Given the description of an element on the screen output the (x, y) to click on. 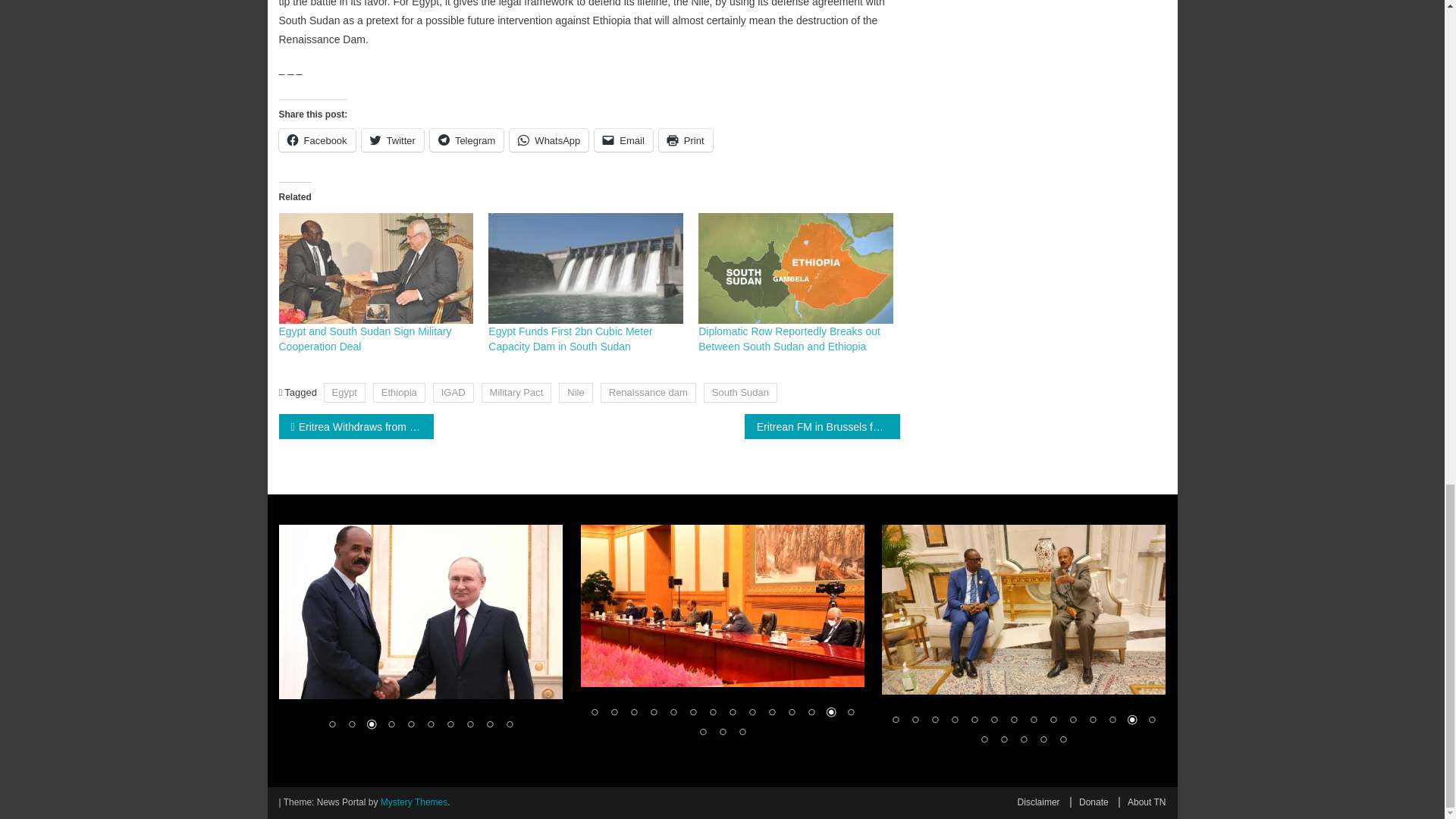
Click to share on Facebook (317, 139)
Click to share on Twitter (392, 139)
Click to share on Telegram (466, 139)
Click to print (686, 139)
Egypt and South Sudan Sign Military Cooperation Deal (365, 338)
Facebook (317, 139)
WhatsApp (548, 139)
Egypt and South Sudan Sign Military Cooperation Deal (376, 268)
Telegram (466, 139)
Twitter (392, 139)
Click to share on WhatsApp (548, 139)
